Given the description of an element on the screen output the (x, y) to click on. 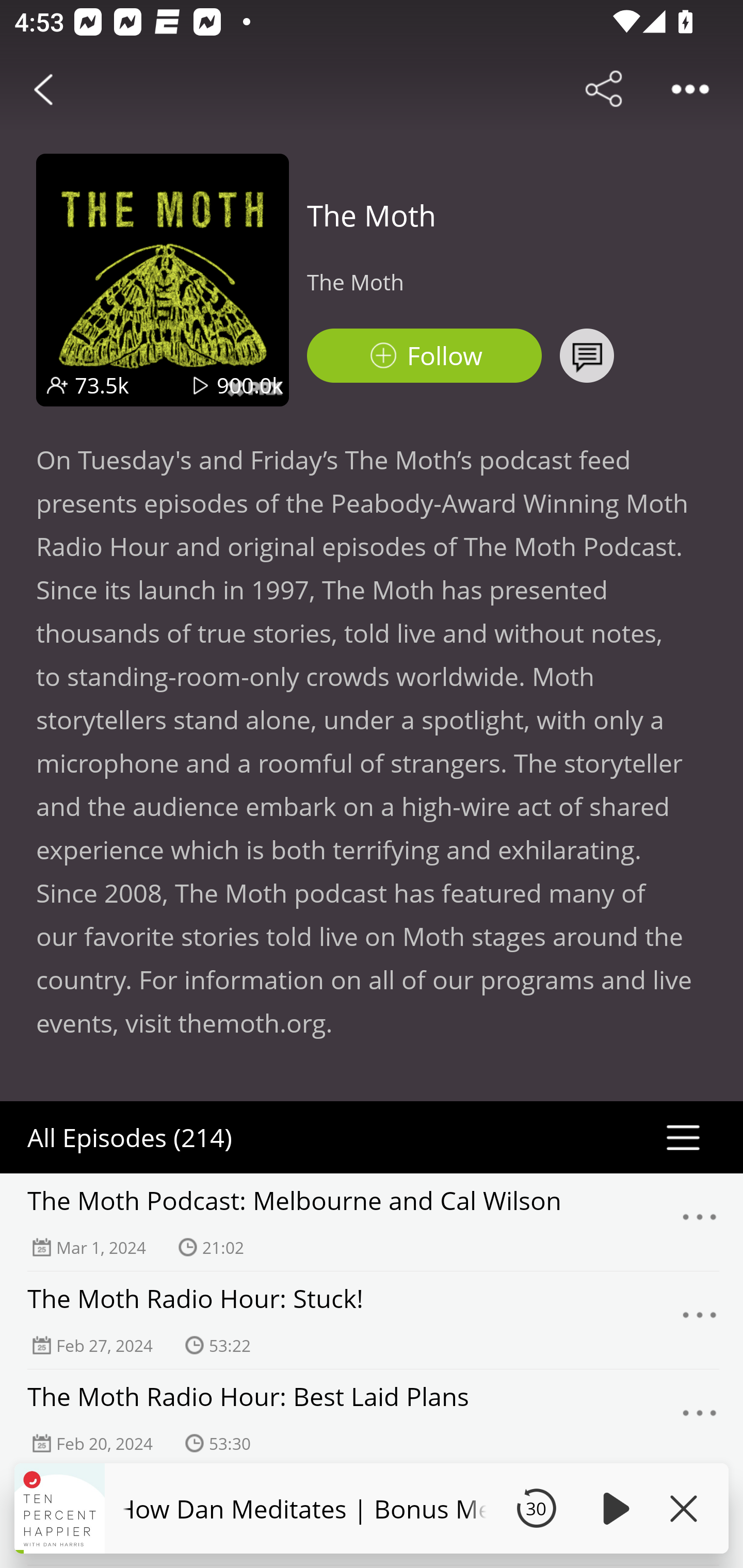
Back (43, 88)
Podbean Follow (423, 355)
73.5k (102, 384)
Menu (699, 1222)
Menu (699, 1320)
Menu (699, 1418)
Play (613, 1507)
30 Seek Backward (536, 1508)
